Given the description of an element on the screen output the (x, y) to click on. 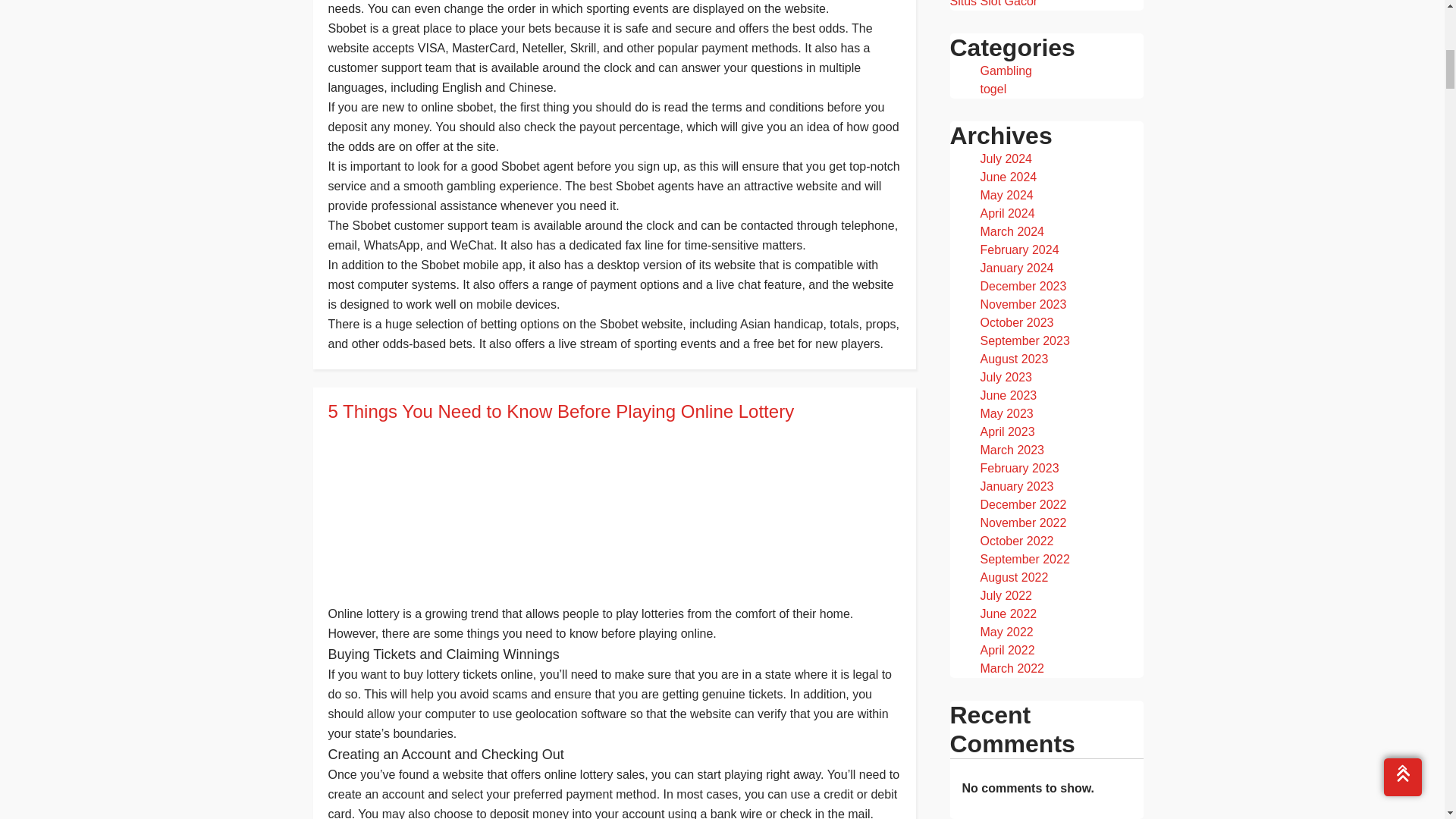
5 Things You Need to Know Before Playing Online Lottery (613, 411)
togel (992, 88)
Gambling (1004, 70)
Situs Slot Gacor (992, 3)
